Given the description of an element on the screen output the (x, y) to click on. 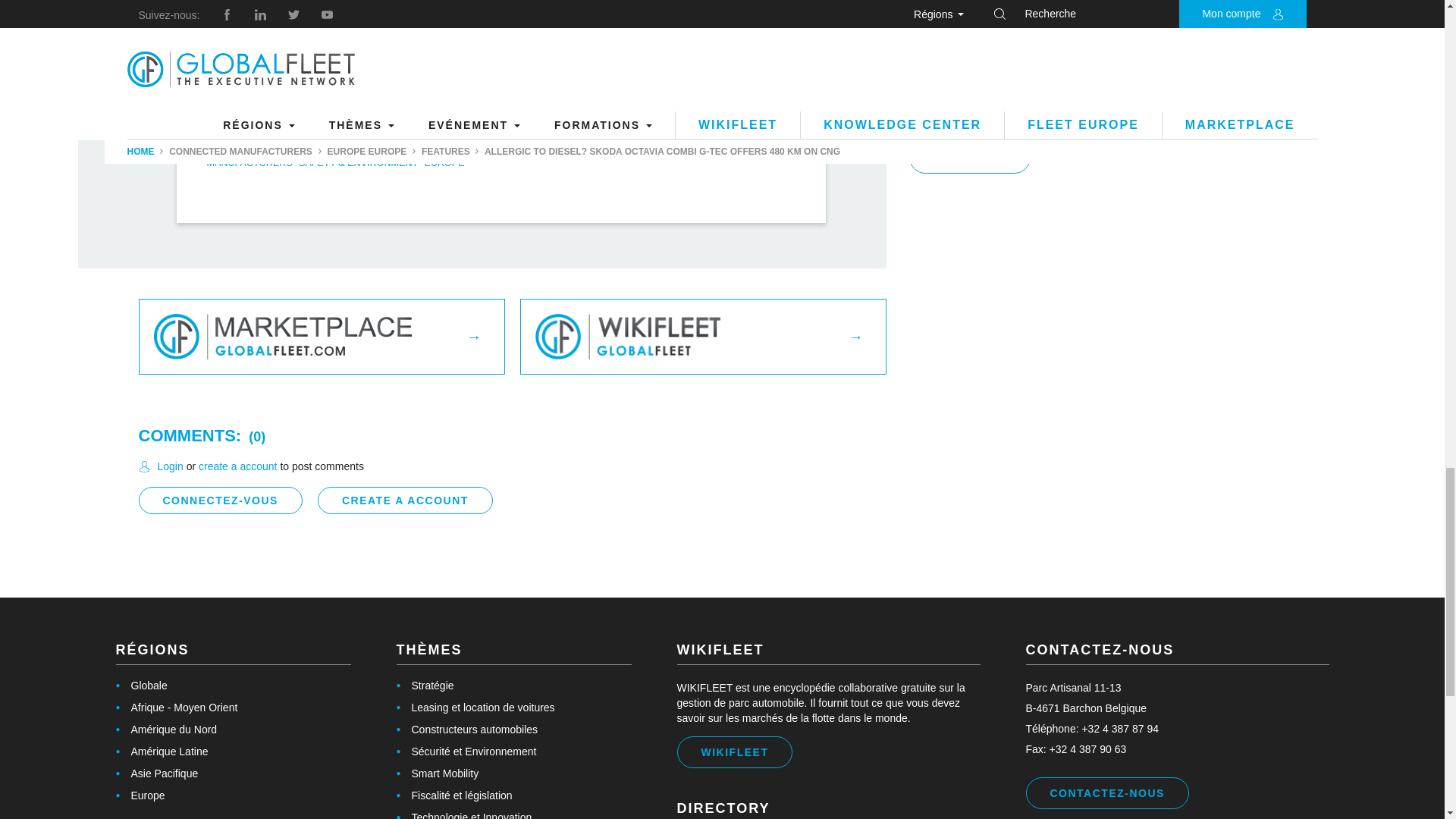
Subscribe (139, 795)
Contact globalfleet (969, 156)
